Given the description of an element on the screen output the (x, y) to click on. 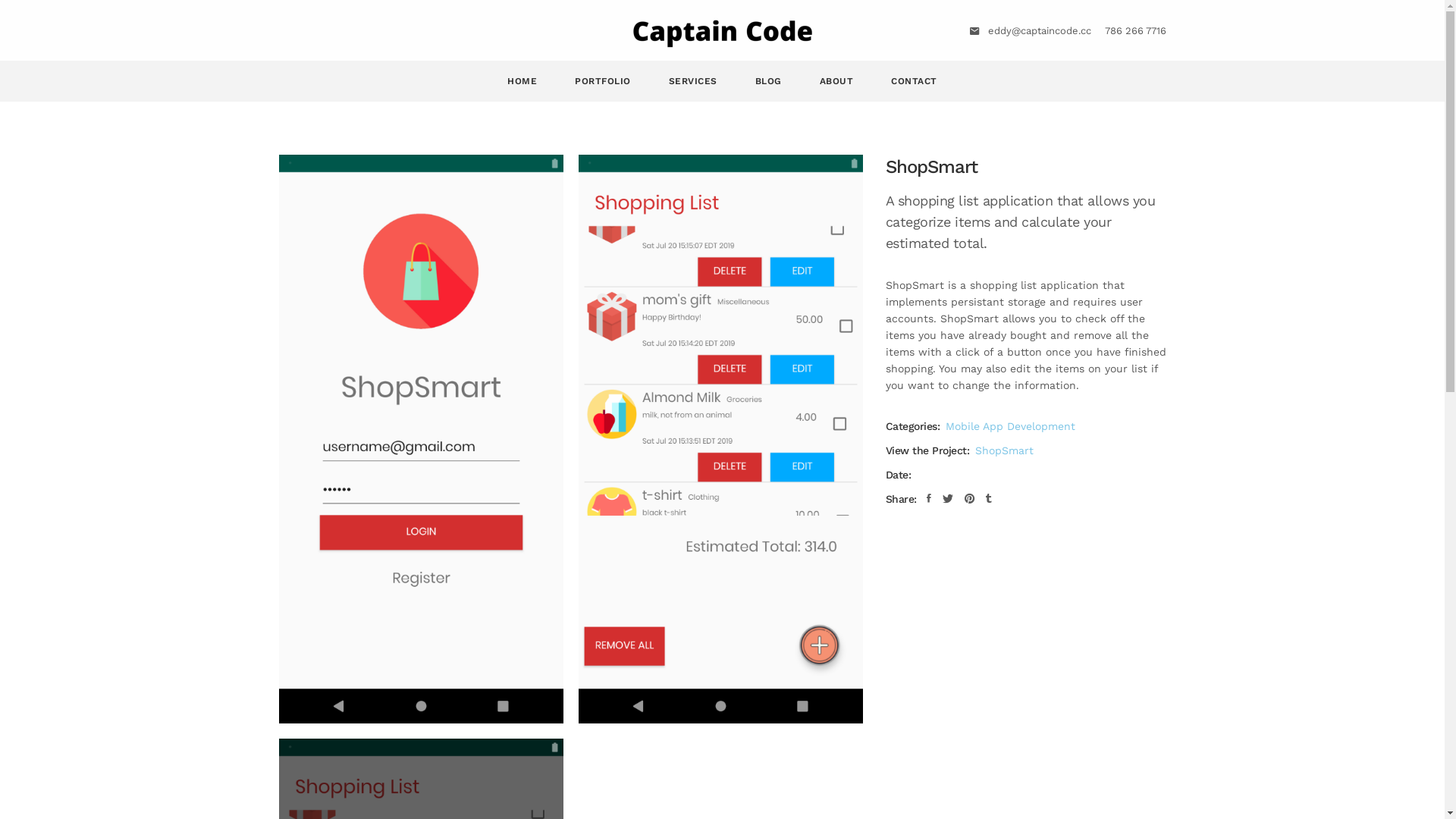
CONTACT Element type: text (913, 80)
HOME Element type: text (521, 80)
eddy@captaincode.cc Element type: text (1038, 29)
Mobile App Development Element type: text (1010, 426)
SERVICES Element type: text (692, 80)
PORTFOLIO Element type: text (602, 80)
ABOUT Element type: text (836, 80)
BLOG Element type: text (768, 80)
ShopSmart Element type: text (1004, 450)
